Given the description of an element on the screen output the (x, y) to click on. 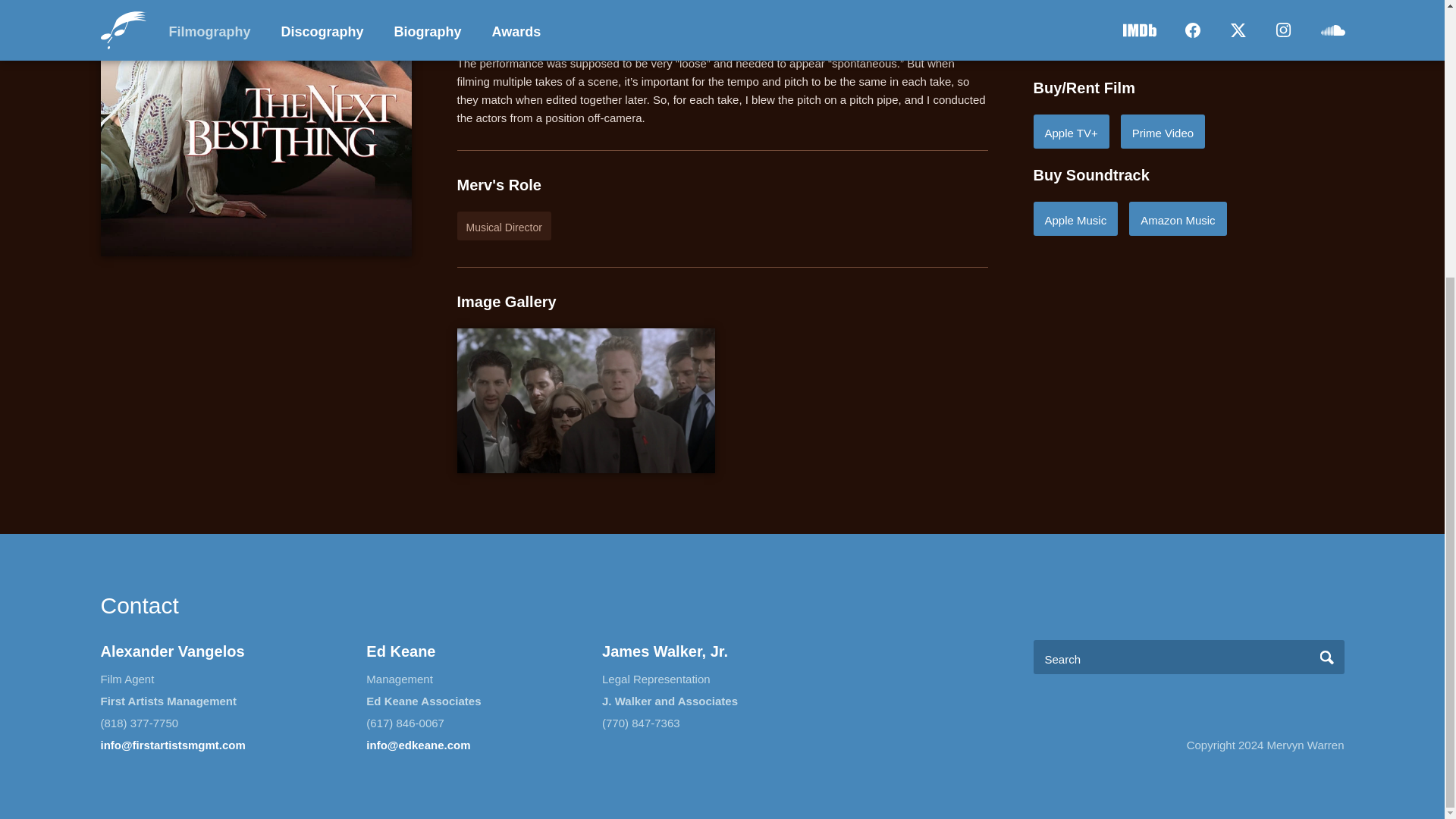
Search (1326, 656)
Romance (1188, 13)
Comedy (1061, 13)
Prime Video (1163, 131)
Ed Keane Associates (423, 700)
Musical Director (503, 225)
Search (1326, 656)
First Artists Management (167, 700)
next best thing - funeral still (585, 400)
J. Walker and Associates (670, 700)
Amazon Music (1177, 218)
Drama (1123, 13)
Apple Music (1075, 218)
